Given the description of an element on the screen output the (x, y) to click on. 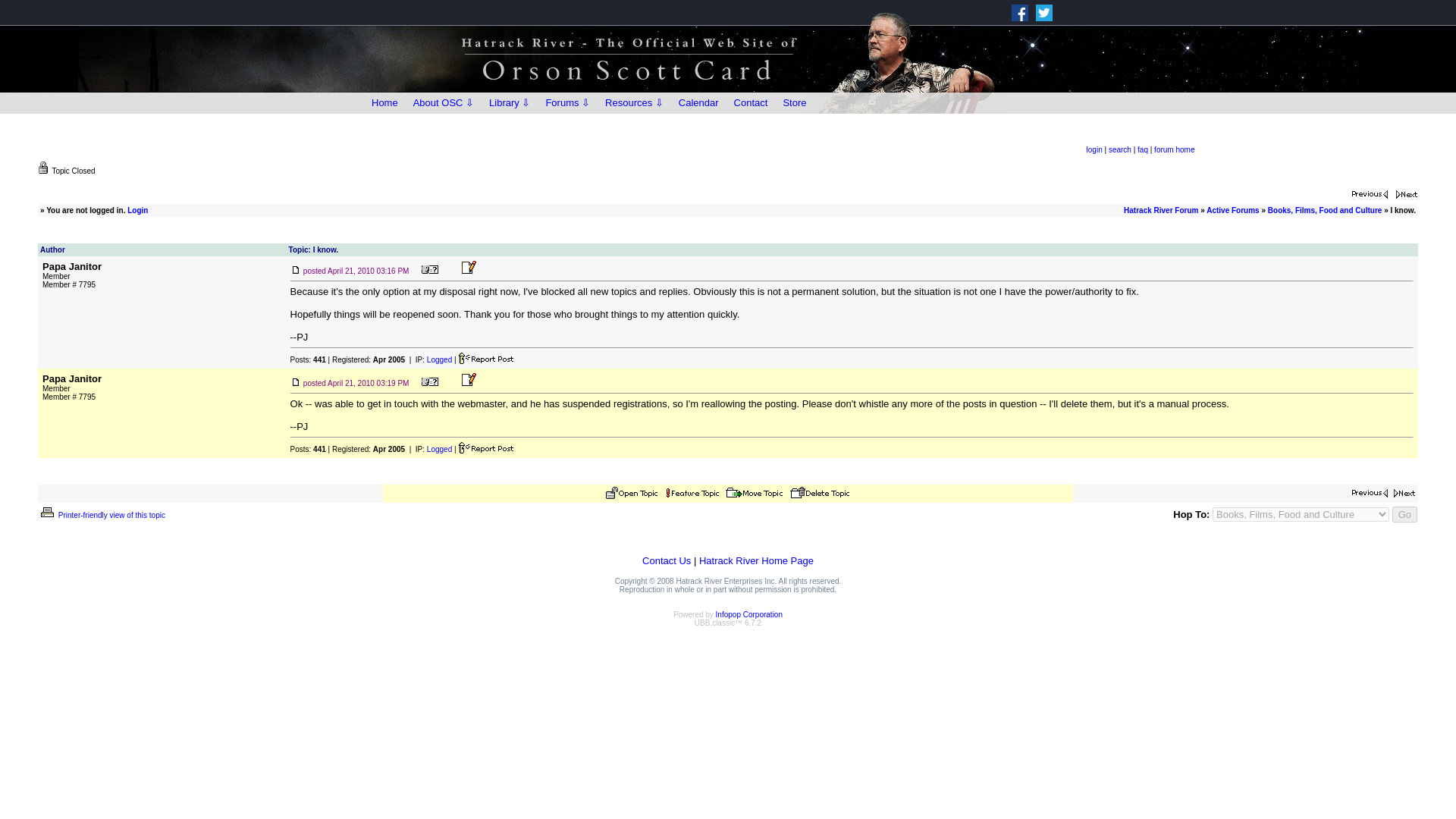
search (1119, 149)
Store (793, 102)
Report this post to a Moderator (485, 447)
Hatrack River Forum (1161, 210)
Frequently Asked Questions (1142, 149)
Forum Home (1173, 149)
forum home (1173, 149)
Home (385, 102)
Log in to post and check your profile (1094, 149)
Books, Films, Food and Culture (1324, 210)
